Given the description of an element on the screen output the (x, y) to click on. 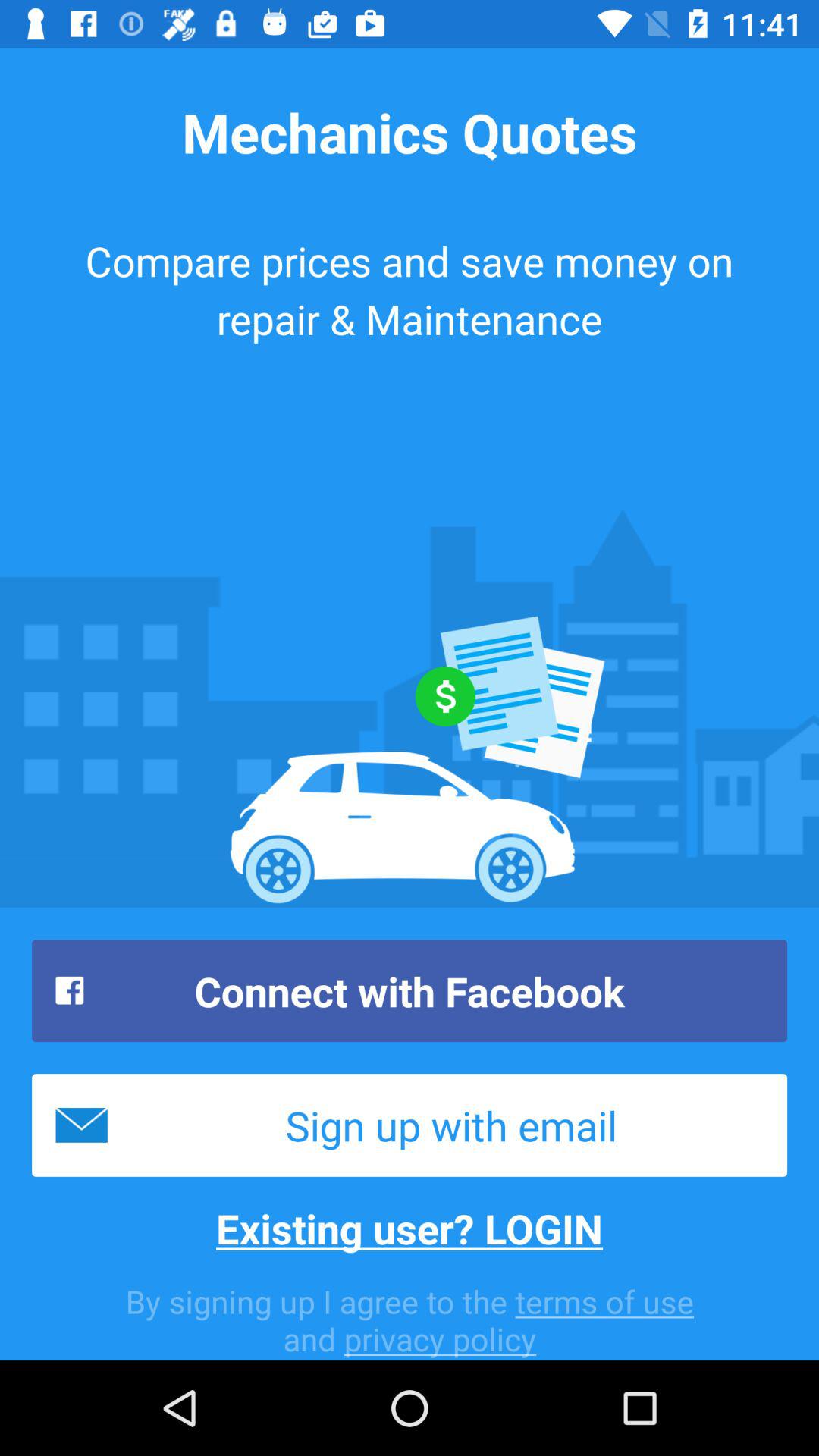
open item below the sign up with icon (409, 1227)
